Given the description of an element on the screen output the (x, y) to click on. 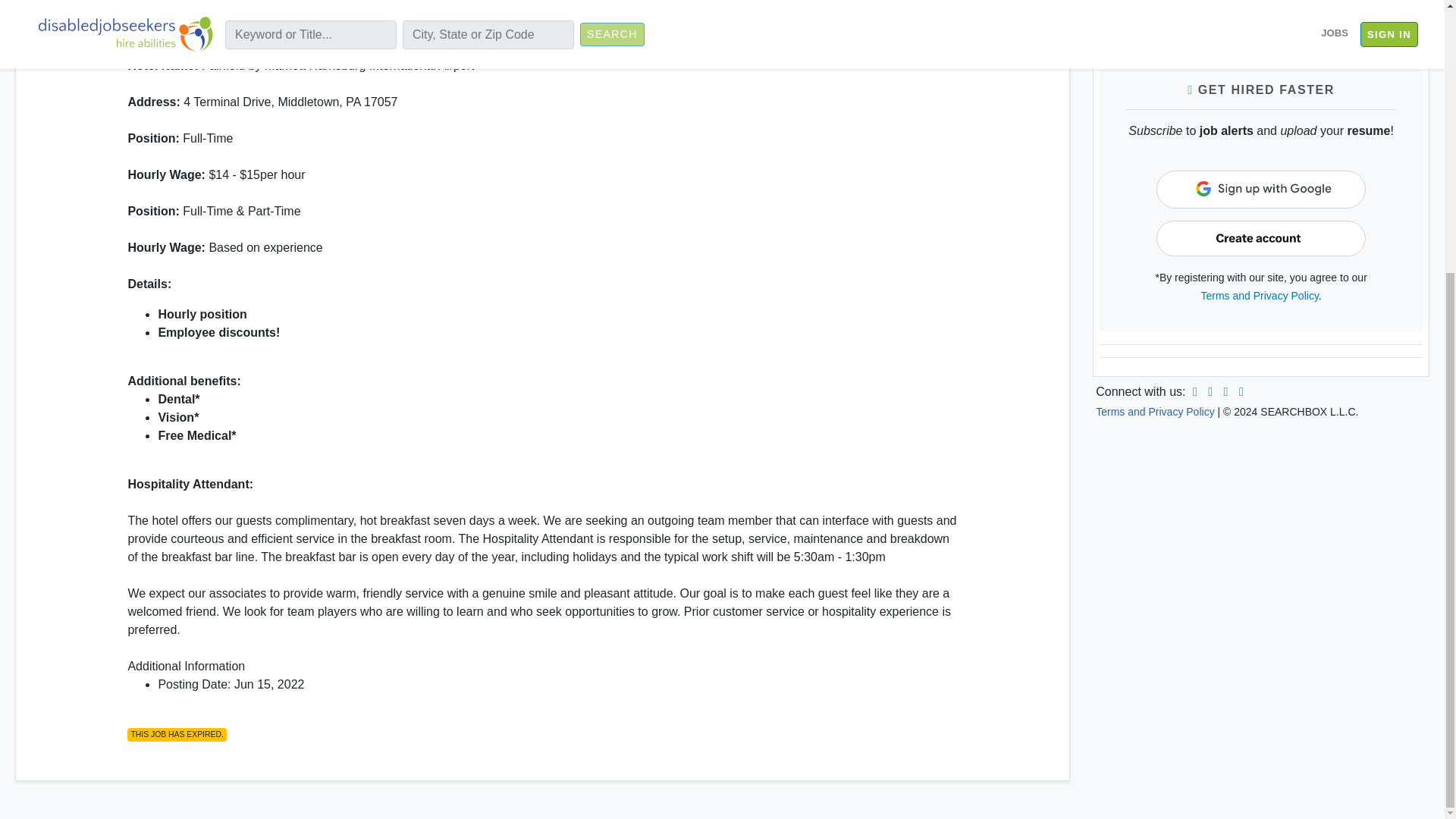
Link to LinkedIn (1195, 391)
Terms and Privacy Policy (1260, 295)
Link to Facebook (1209, 391)
Link to Twitter (1225, 391)
Email Disabled Job Seekers (1240, 391)
Terms and Privacy Policy (1155, 411)
